Given the description of an element on the screen output the (x, y) to click on. 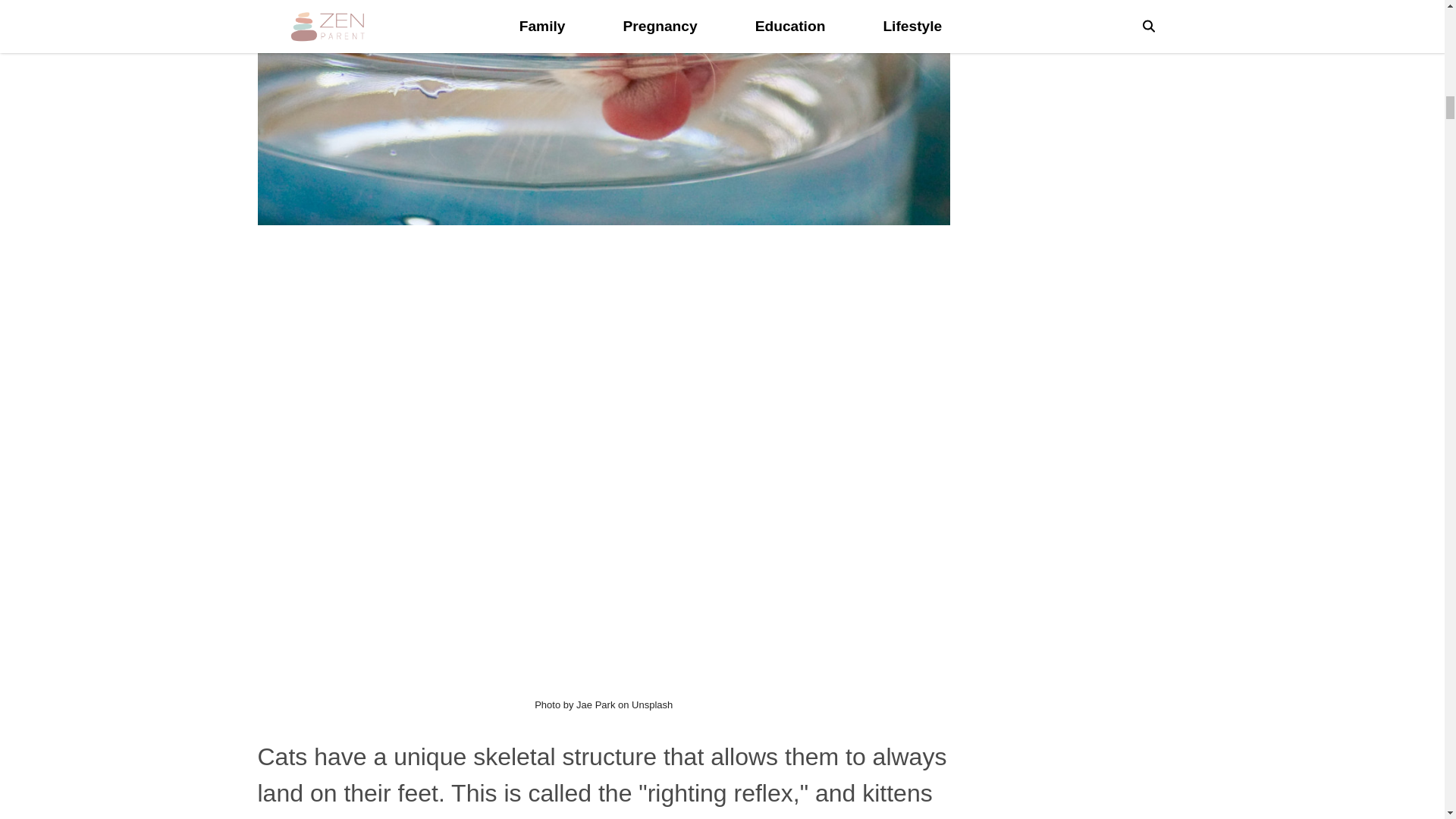
Photo by Jae Park on Unsplash (603, 704)
